Given the description of an element on the screen output the (x, y) to click on. 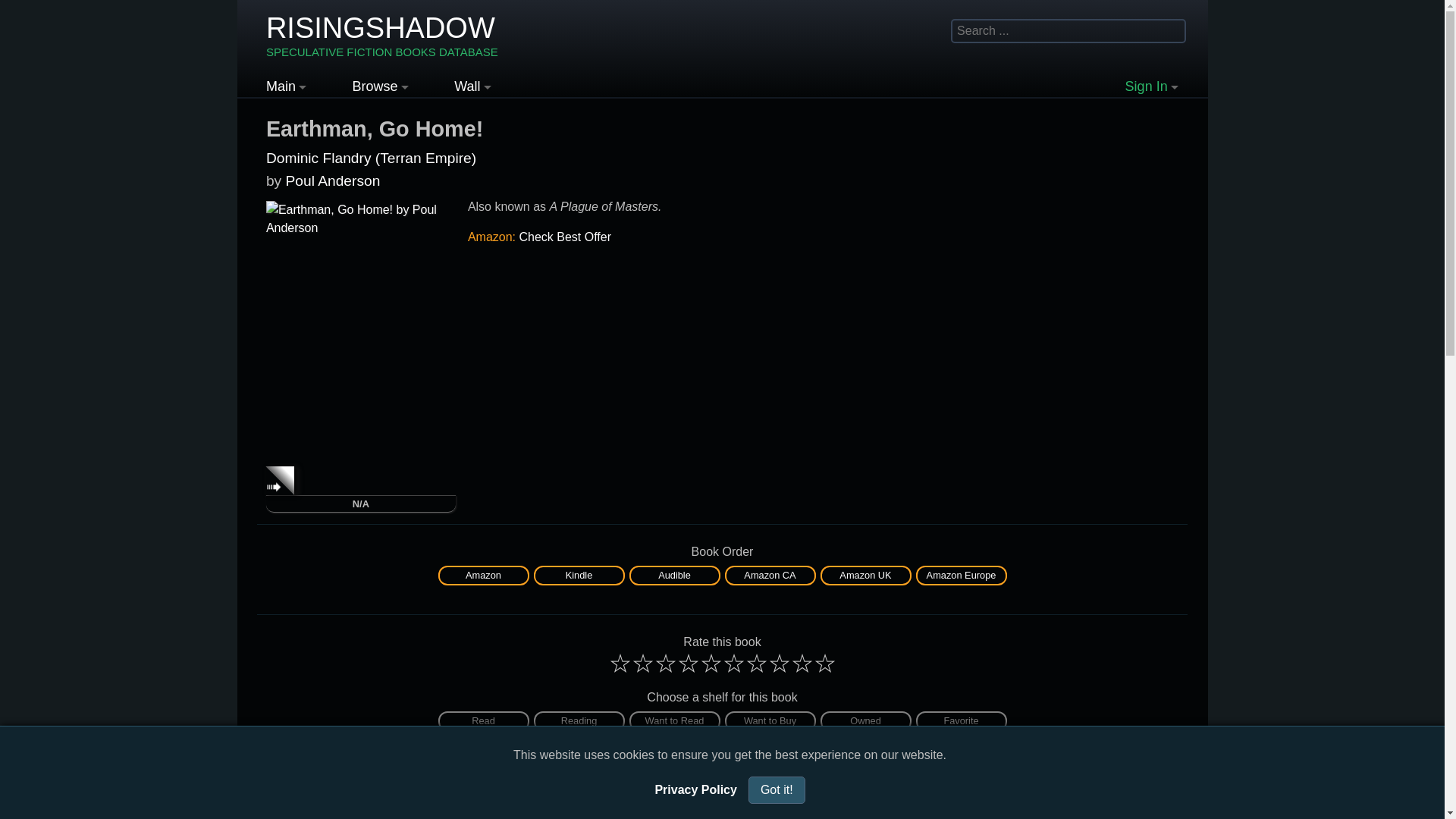
Amazon UK (864, 574)
Audible (674, 574)
Owned (381, 36)
Kindle (866, 721)
Amazon CA (579, 575)
Want to Buy (769, 574)
Kindle (770, 721)
Check Best Offer (578, 574)
Owned (564, 236)
Want to Buy (866, 721)
Amazon UK (770, 721)
Want to Read (866, 575)
Amazon (674, 721)
Audible (483, 574)
